Given the description of an element on the screen output the (x, y) to click on. 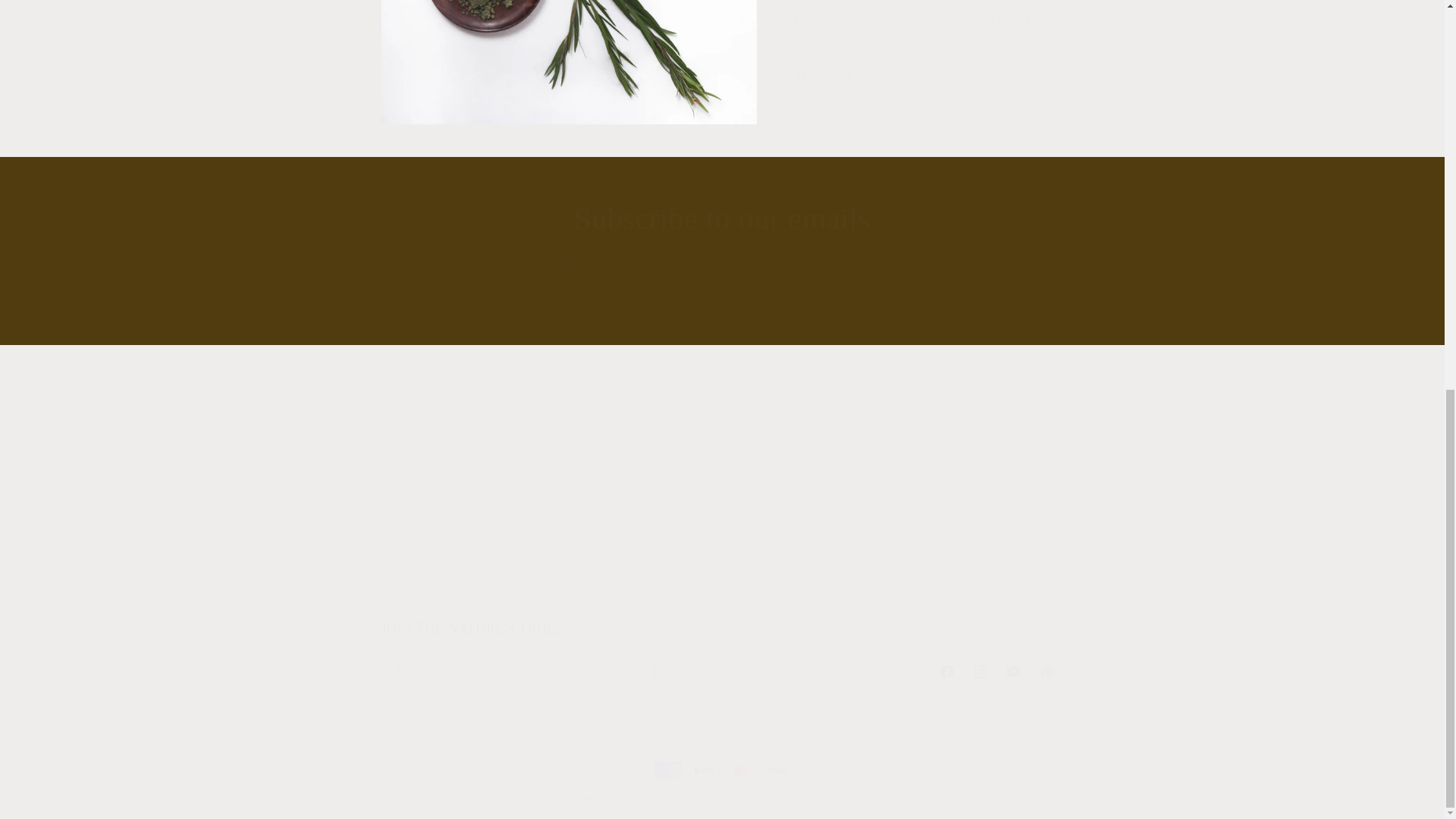
Subscribe to our emails (721, 219)
Email (489, 507)
